Given the description of an element on the screen output the (x, y) to click on. 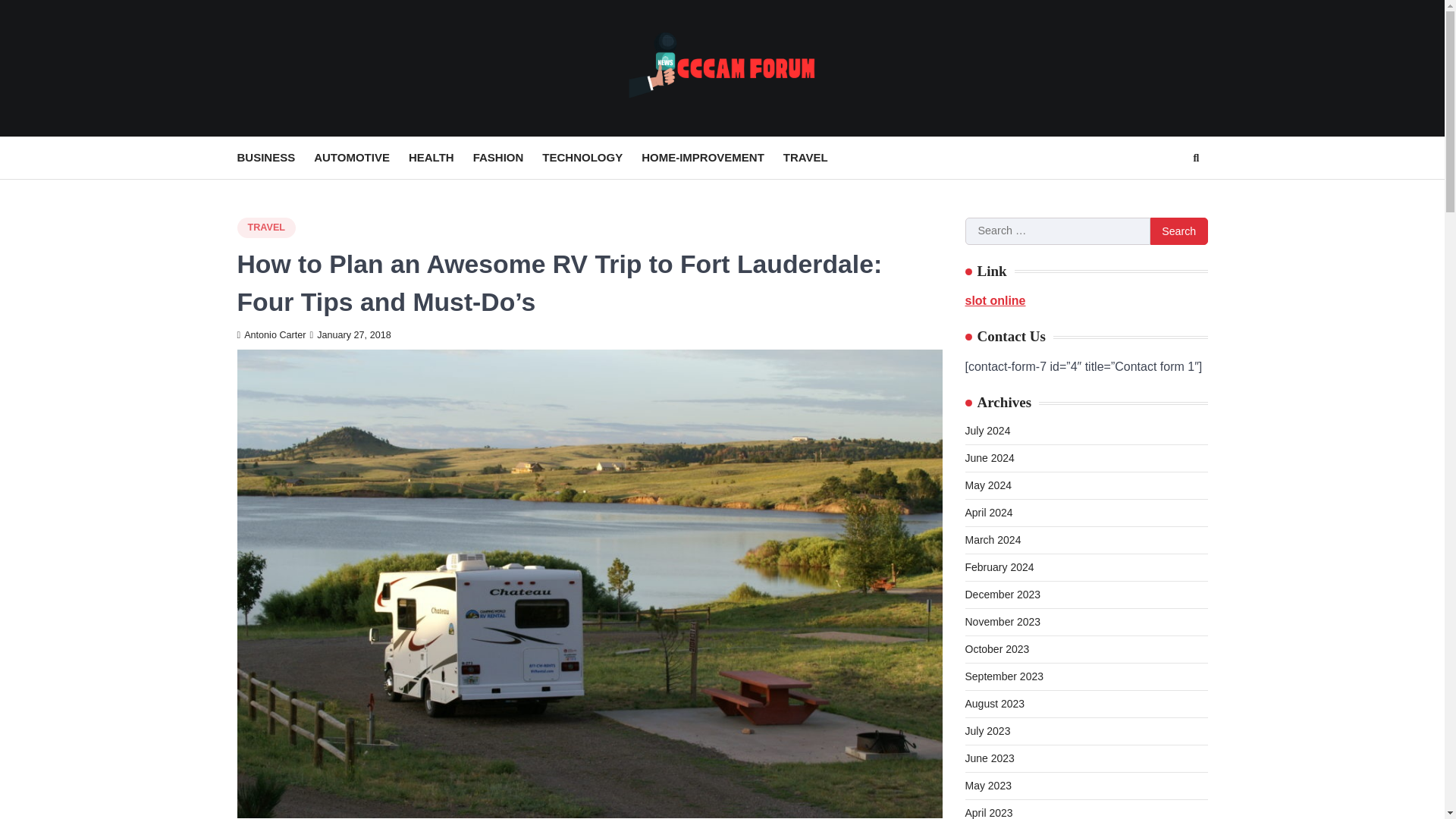
Antonio Carter (270, 335)
May 2023 (986, 785)
Search (1179, 230)
TECHNOLOGY (591, 158)
HEALTH (441, 158)
July 2023 (986, 730)
Search (1168, 194)
August 2023 (994, 703)
January 27, 2018 (350, 335)
BUSINESS (274, 158)
June 2023 (988, 758)
May 2024 (986, 485)
AUTOMOTIVE (361, 158)
September 2023 (1003, 676)
October 2023 (996, 648)
